Given the description of an element on the screen output the (x, y) to click on. 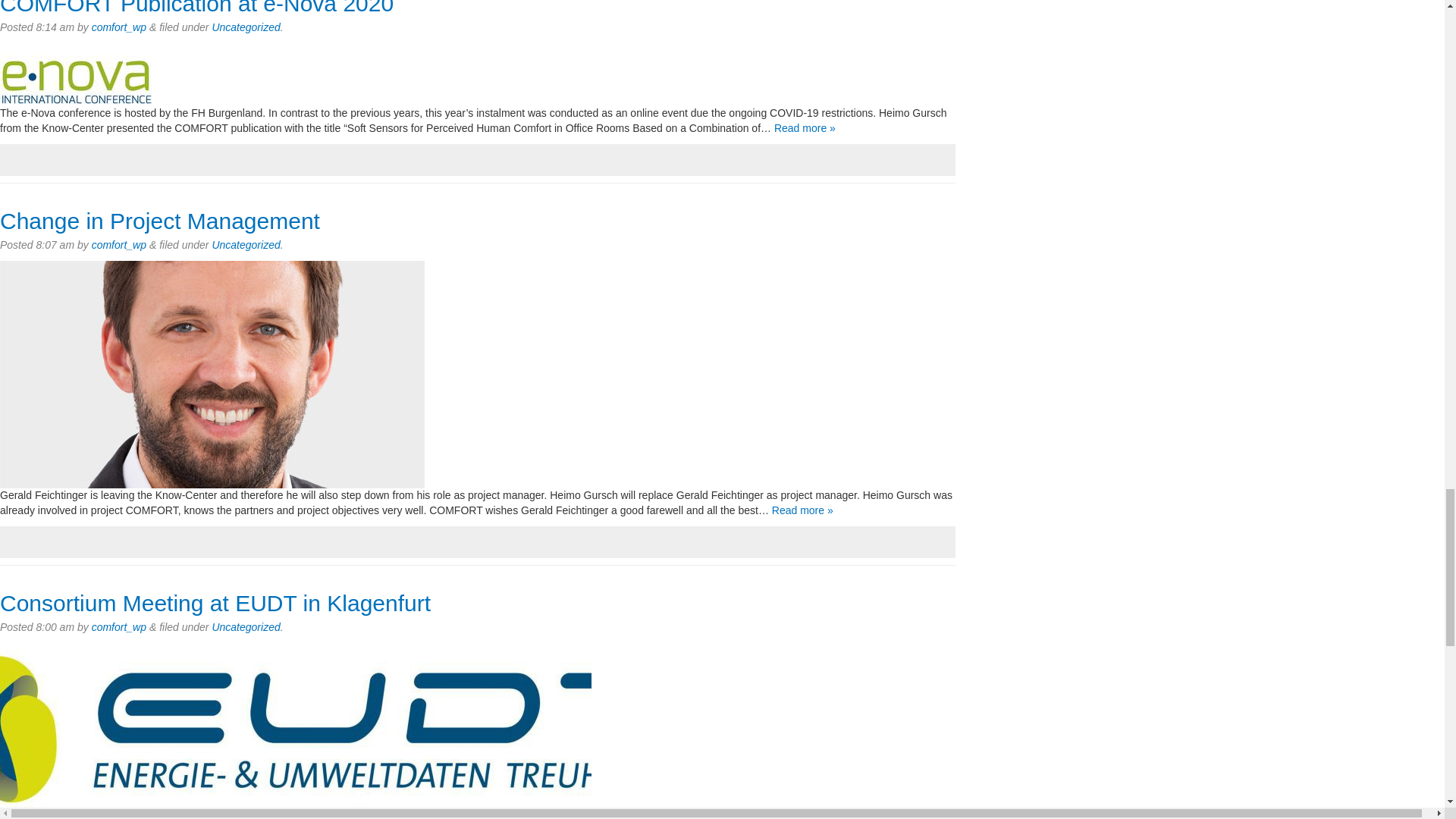
COMFORT Publication at e-Nova 2020 (196, 7)
Read COMFORT Publication at e-Nova 2020 (804, 128)
Change in Project Management (160, 220)
COMFORT Publication at e-Nova 2020 (196, 7)
Uncategorized (245, 27)
Change in Project Management (160, 220)
Uncategorized (245, 244)
Consortium Meeting at EUDT in Klagenfurt (215, 602)
